Given the description of an element on the screen output the (x, y) to click on. 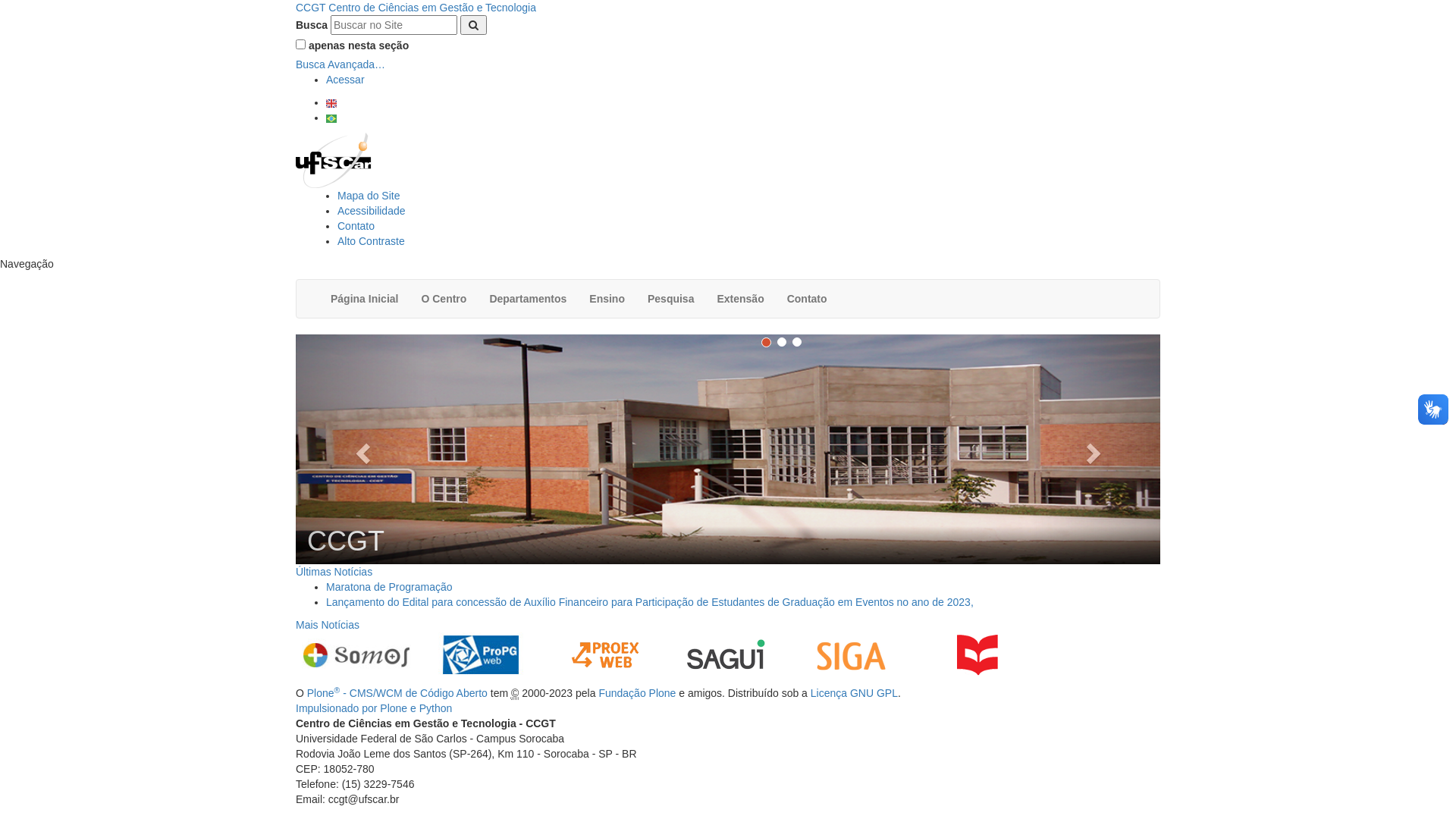
Impulsionado por Plone e Python Element type: text (373, 708)
propg Element type: hover (480, 654)
siga.png Element type: hover (850, 654)
Buscar no Site Element type: hover (393, 24)
Pesquisa Element type: text (670, 298)
O Centro Element type: text (443, 298)
Contato Element type: text (355, 225)
Previous Element type: text (360, 449)
English Element type: hover (331, 102)
CCGT Element type: text (727, 449)
Acessar Element type: text (345, 79)
Mapa do Site Element type: text (368, 195)
Ensino Element type: text (606, 298)
sagui Element type: hover (726, 654)
English Element type: hover (331, 103)
Contato Element type: text (806, 298)
Portal UFSCar Element type: hover (333, 159)
repositorio Element type: hover (977, 654)
Acessibilidade Element type: text (371, 210)
Alto Contraste Element type: text (370, 241)
proex Element type: hover (604, 654)
Next Element type: text (1095, 449)
somos ufscar Element type: hover (356, 654)
Departamentos Element type: text (527, 298)
